Given the description of an element on the screen output the (x, y) to click on. 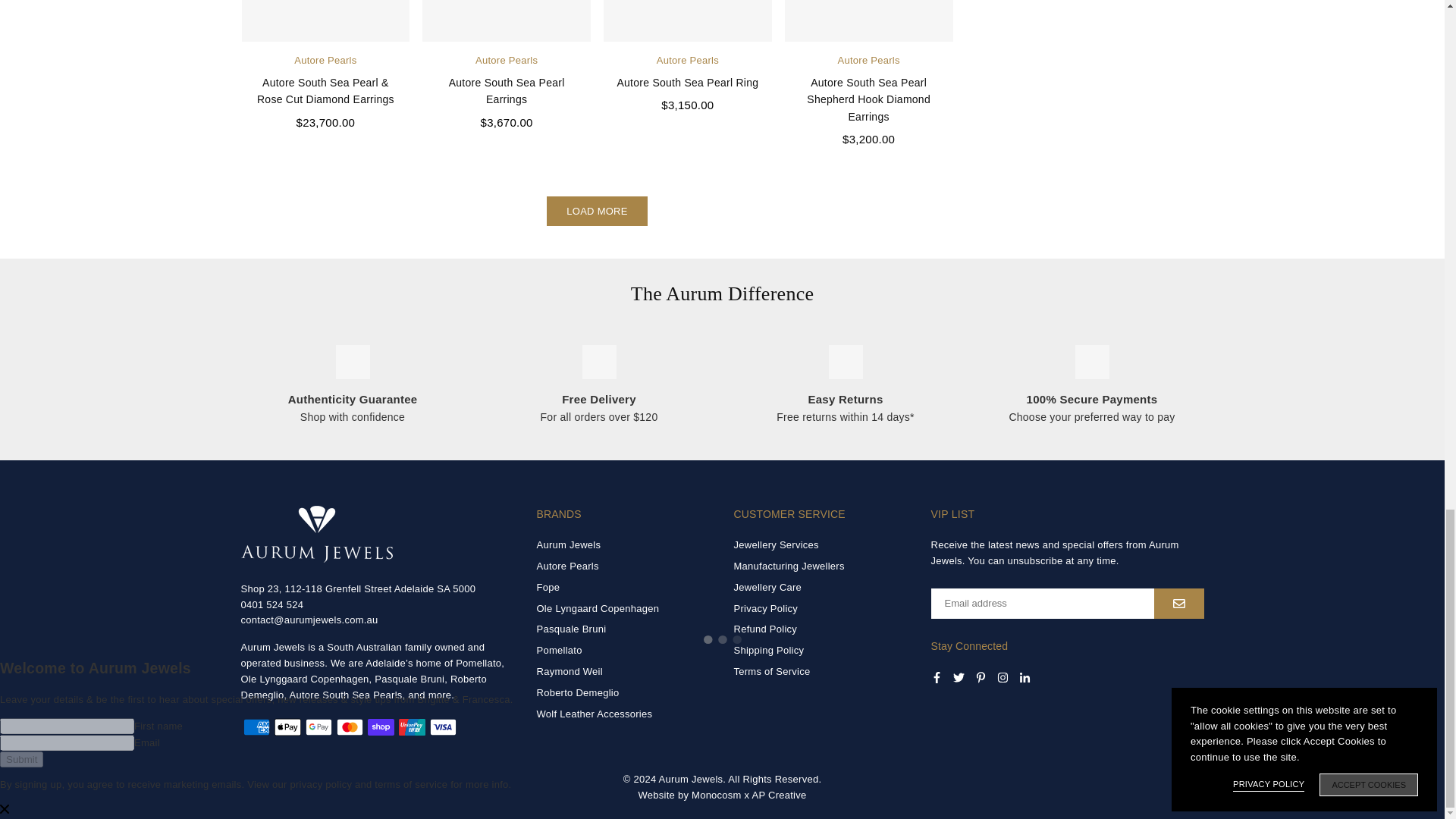
American Express (256, 727)
Apple Pay (288, 727)
Google Pay (317, 727)
Aurum Jewels on Pinterest (981, 676)
Aurum Jewels on Twitter (957, 676)
SUBSCRIBE (1179, 603)
Aurum Jewels on Facebook (936, 676)
